Given the description of an element on the screen output the (x, y) to click on. 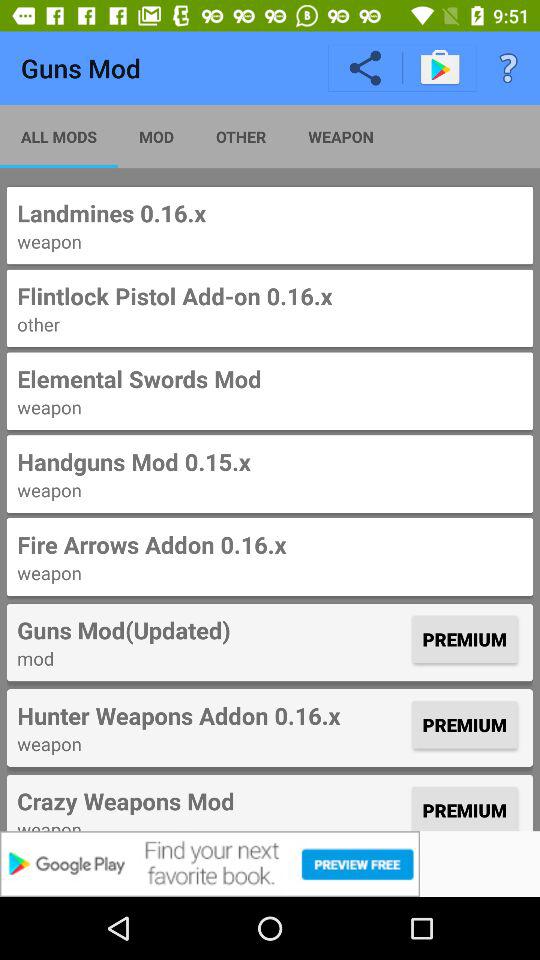
open google advertisement (270, 864)
